Given the description of an element on the screen output the (x, y) to click on. 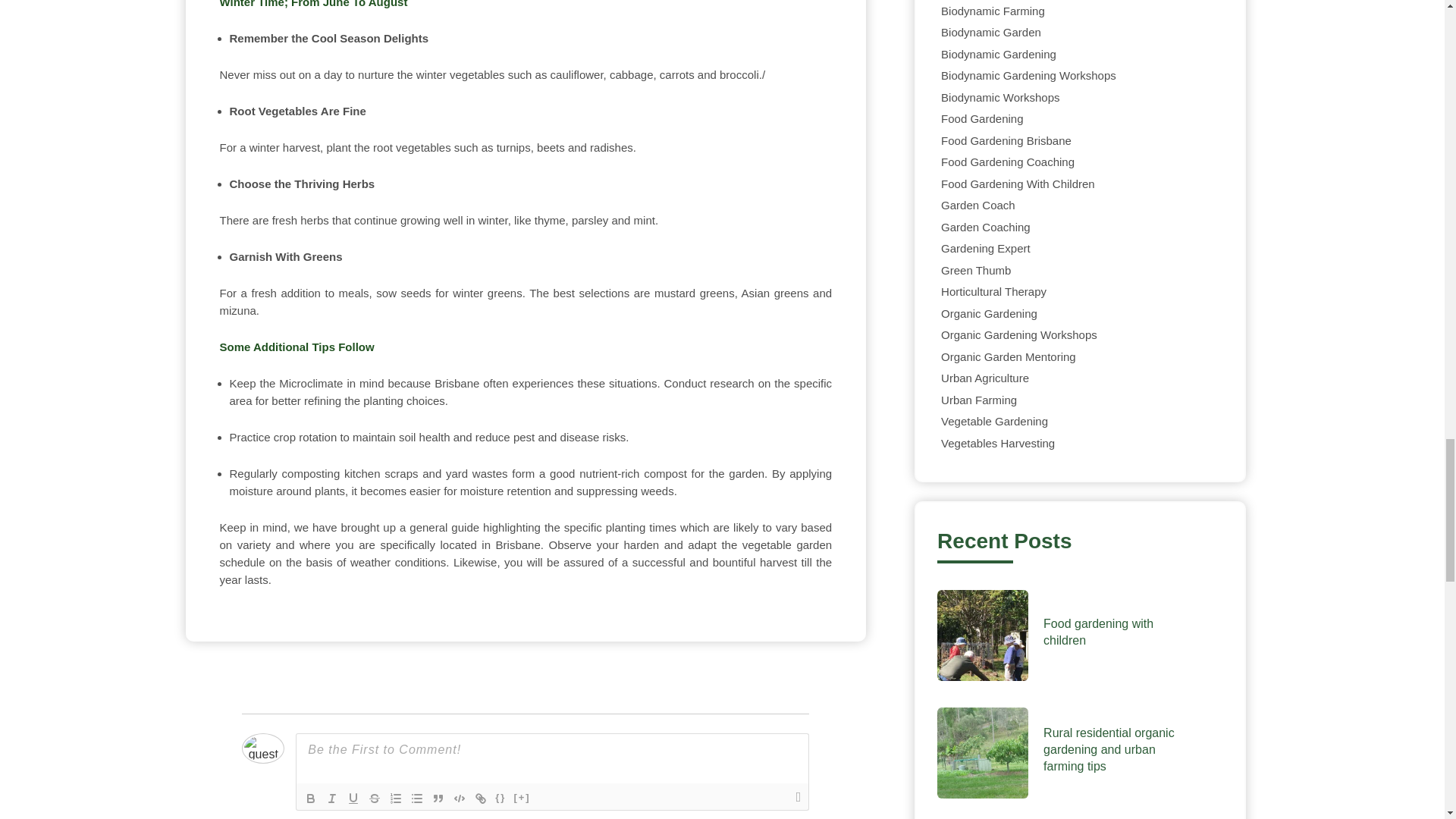
Italic (331, 798)
ordered (395, 798)
Blockquote (438, 798)
Bold (310, 798)
Ordered List (395, 798)
bullet (417, 798)
Underline (353, 798)
Spoiler (521, 798)
Strike (374, 798)
Source Code (500, 798)
Code Block (459, 798)
Link (481, 798)
Unordered List (417, 798)
